Given the description of an element on the screen output the (x, y) to click on. 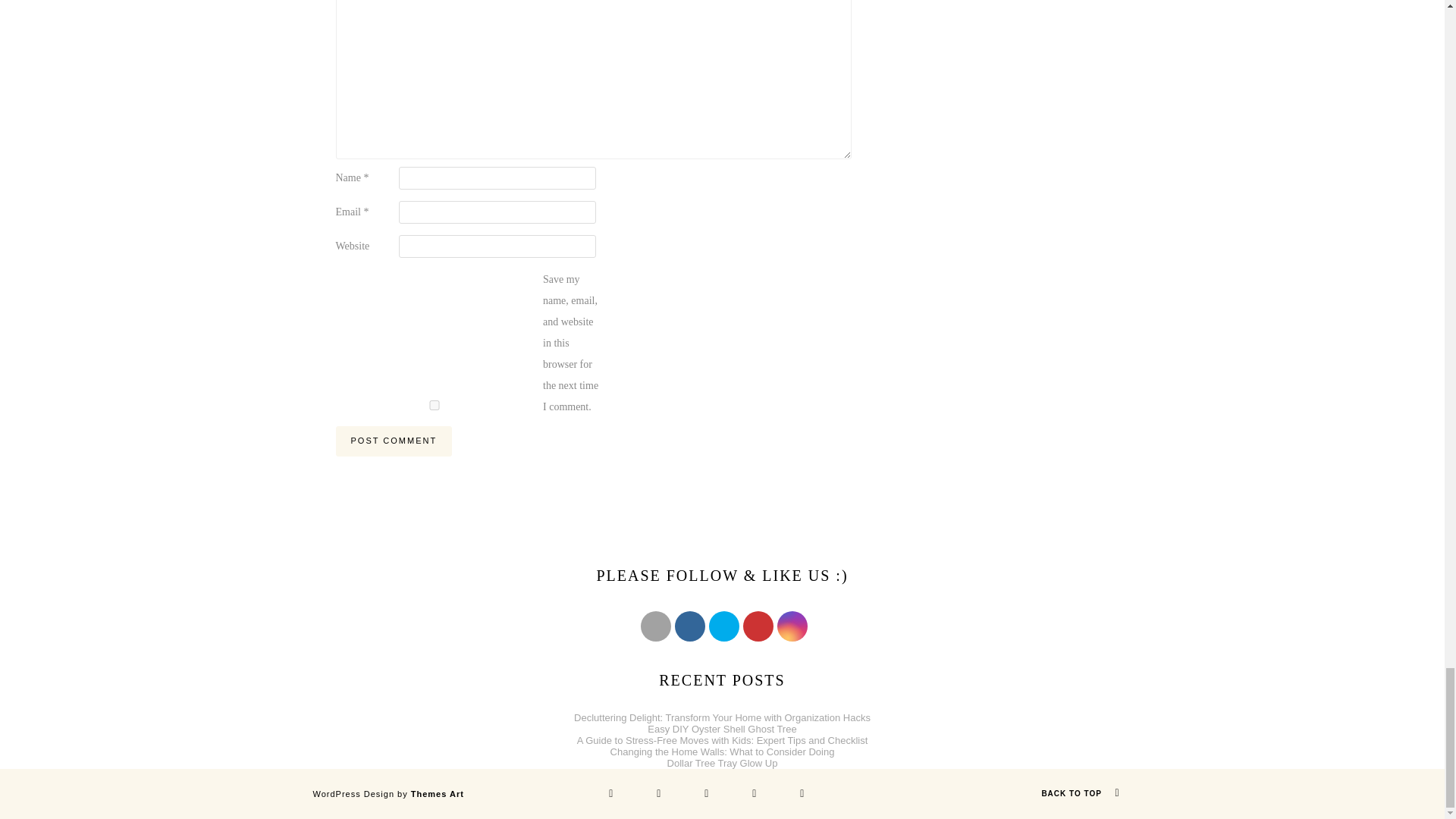
Facebook (689, 626)
Follow by Email (655, 626)
Post Comment (392, 440)
Instagram (792, 626)
yes (433, 405)
Post Comment (392, 440)
Twitter (724, 626)
Pinterest (758, 626)
